Given the description of an element on the screen output the (x, y) to click on. 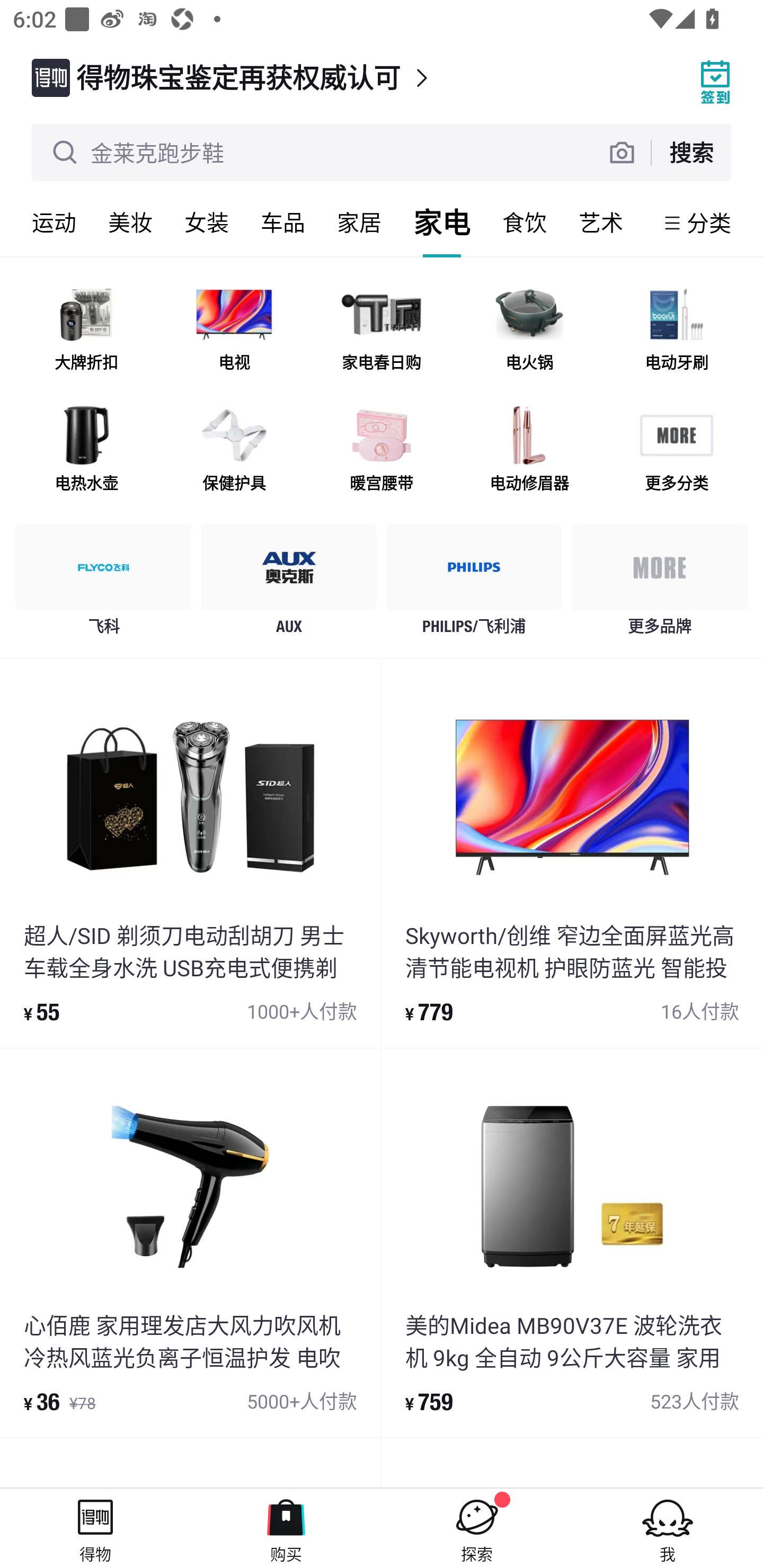
金莱克跑步鞋 搜索 (381, 152)
搜索 (690, 152)
运动 (54, 222)
美妆 (130, 222)
女装 (206, 222)
车品 (282, 222)
家居 (359, 222)
家电 (441, 222)
食饮 (524, 222)
艺术 (601, 222)
分类 (708, 222)
大牌折扣 (86, 329)
电视 (233, 329)
家电春日购 (381, 329)
电火锅 (528, 329)
电动牙刷 (676, 329)
电热水壶 (86, 450)
保健护具 (233, 450)
暖宫腰带 (381, 450)
电动修眉器 (528, 450)
更多分类 (676, 450)
飞科 (103, 583)
AUX (288, 583)
PHILIPS/飞利浦 (473, 583)
更多品牌 (658, 583)
得物 (95, 1528)
购买 (285, 1528)
探索 (476, 1528)
我 (667, 1528)
